Given the description of an element on the screen output the (x, y) to click on. 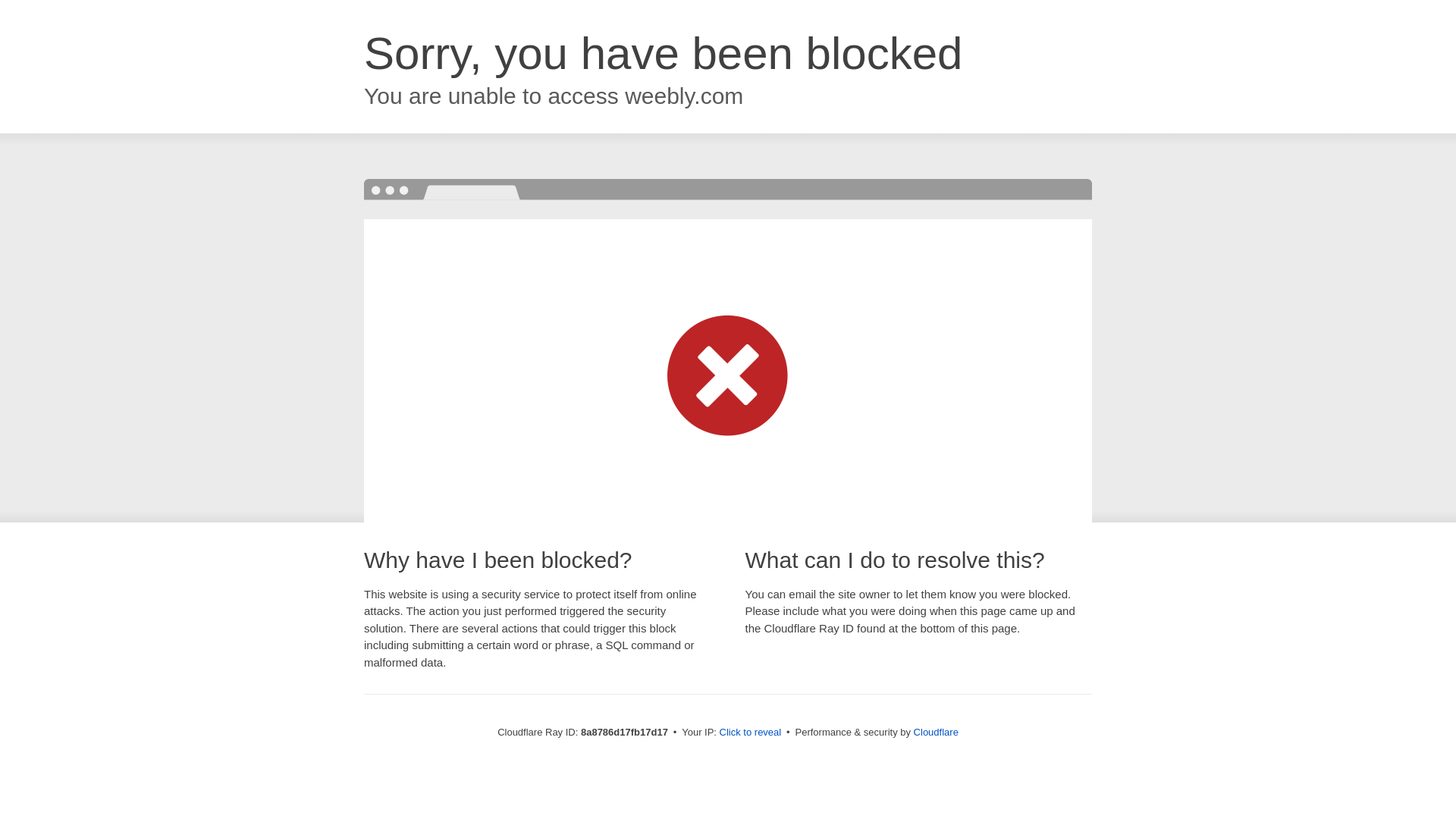
Click to reveal (750, 732)
Cloudflare (936, 731)
